Given the description of an element on the screen output the (x, y) to click on. 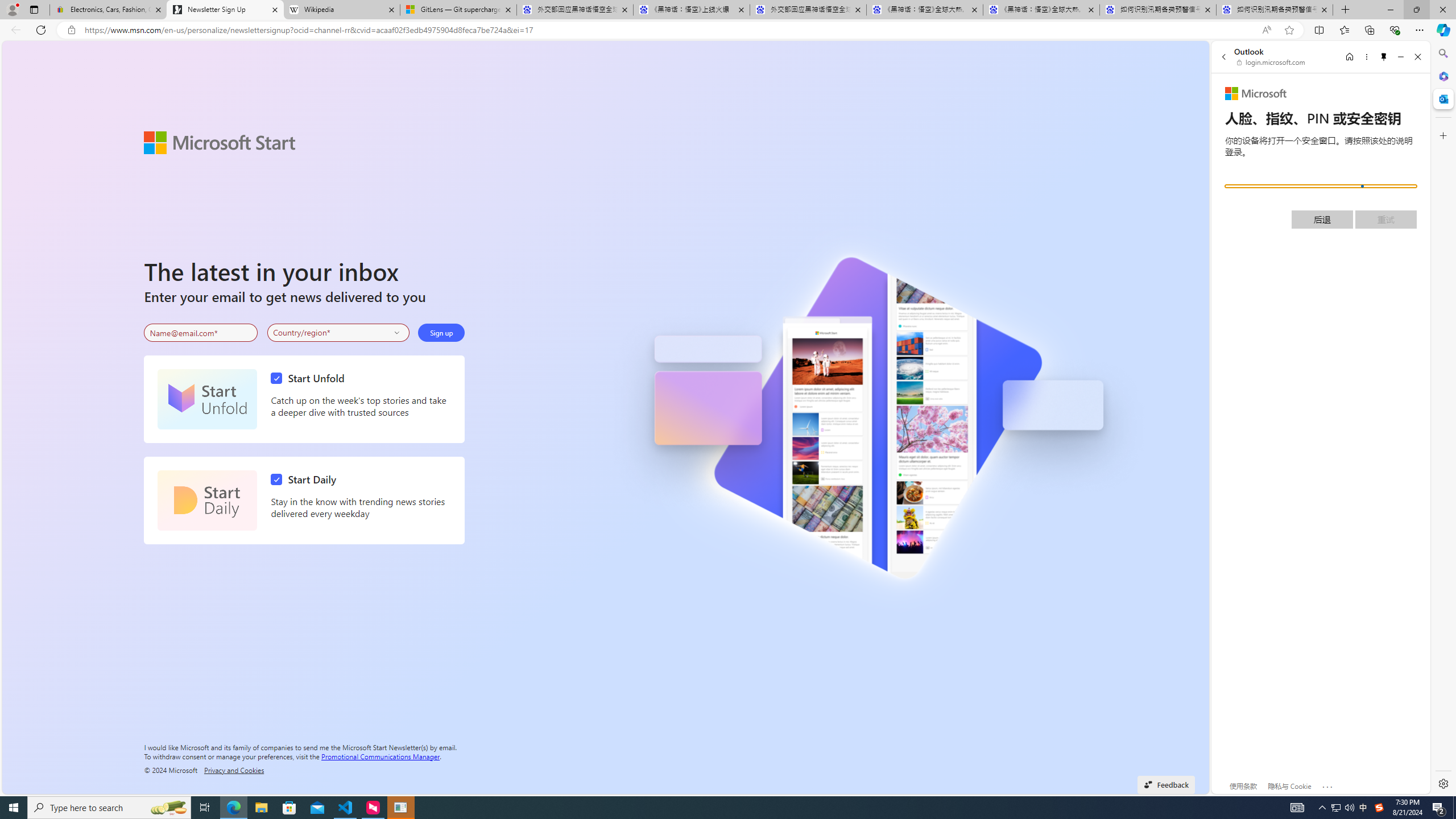
Start Unfold (310, 378)
Sign up (441, 332)
Start Daily (207, 500)
login.microsoft.com (1271, 61)
Unpin side pane (1383, 56)
